Given the description of an element on the screen output the (x, y) to click on. 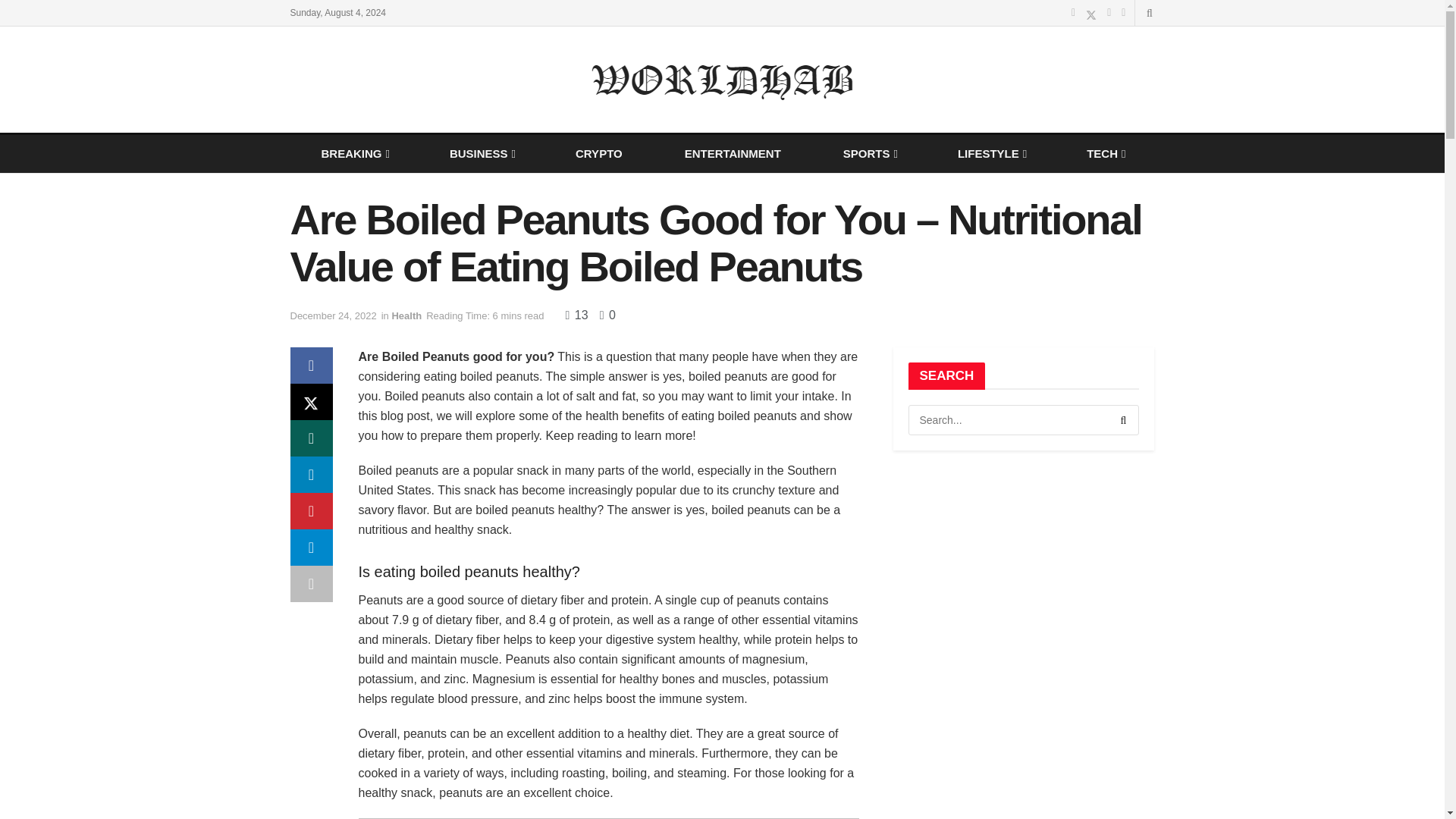
LIFESTYLE (990, 153)
BUSINESS (481, 153)
CRYPTO (598, 153)
TECH (1104, 153)
ENTERTAINMENT (732, 153)
BREAKING (353, 153)
SPORTS (869, 153)
